Given the description of an element on the screen output the (x, y) to click on. 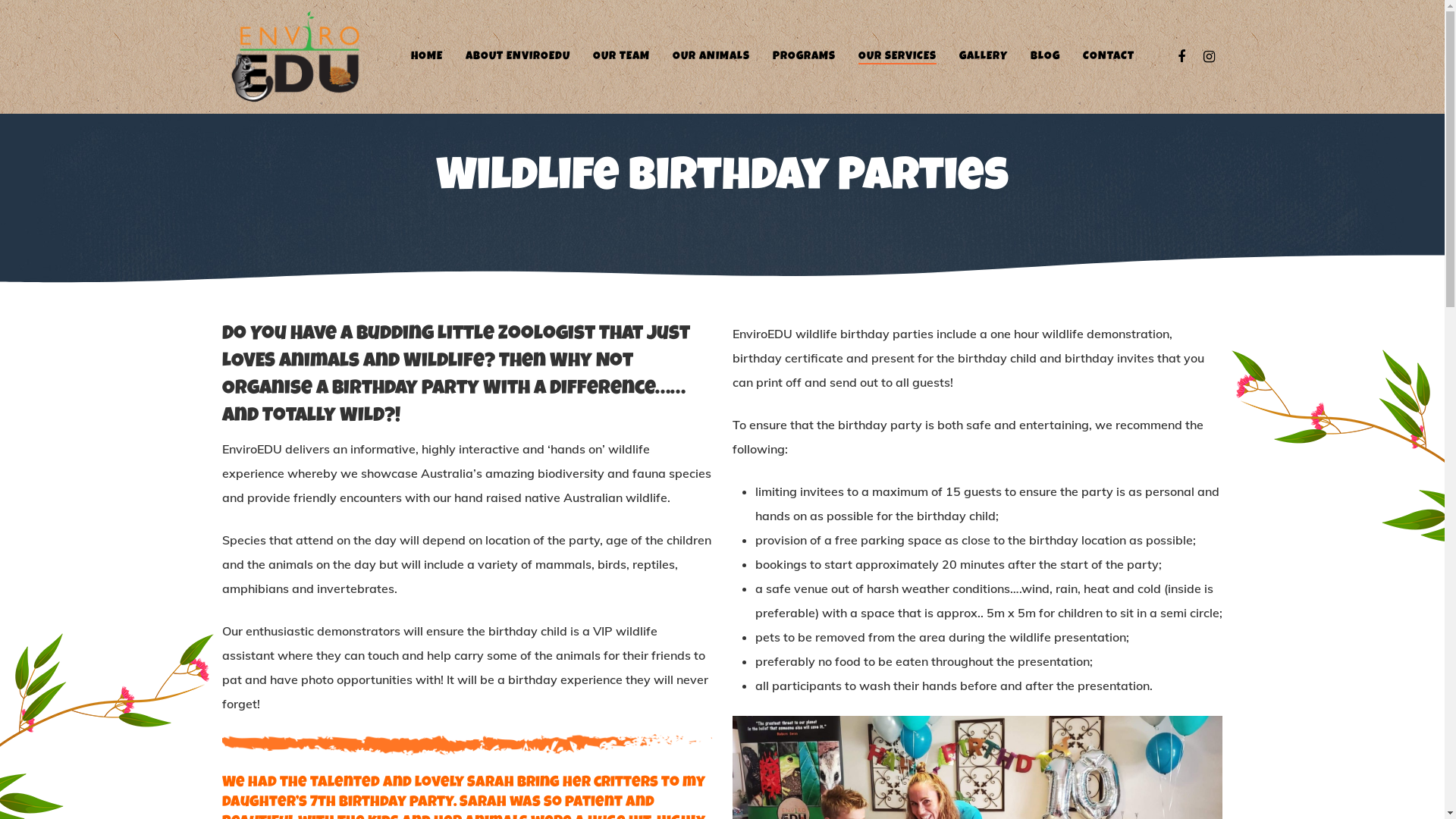
ENVIROEDU MERCH! I know we have previously shown Element type: text (578, 336)
One of the best parts of my job is visiting beauti Element type: text (1150, 336)
Thank you to everyone who entered our birthday giv Element type: text (292, 336)
HOME Element type: text (426, 56)
OUR SERVICES Element type: text (897, 56)
GALLERY Element type: text (982, 56)
BLOG Element type: text (1044, 56)
ABOUT ENVIROEDU Element type: text (517, 56)
PROGRAMS Element type: text (802, 56)
OUR TEAM Element type: text (621, 56)
ENVIROEDU TURNS 10! On the 13th May 2013, En Element type: text (864, 336)
OUR ANIMALS Element type: text (710, 56)
CONTACT Element type: text (1108, 56)
MILDURA FIELD DAYS are fast approaching! Come an Element type: text (435, 336)
